Given the description of an element on the screen output the (x, y) to click on. 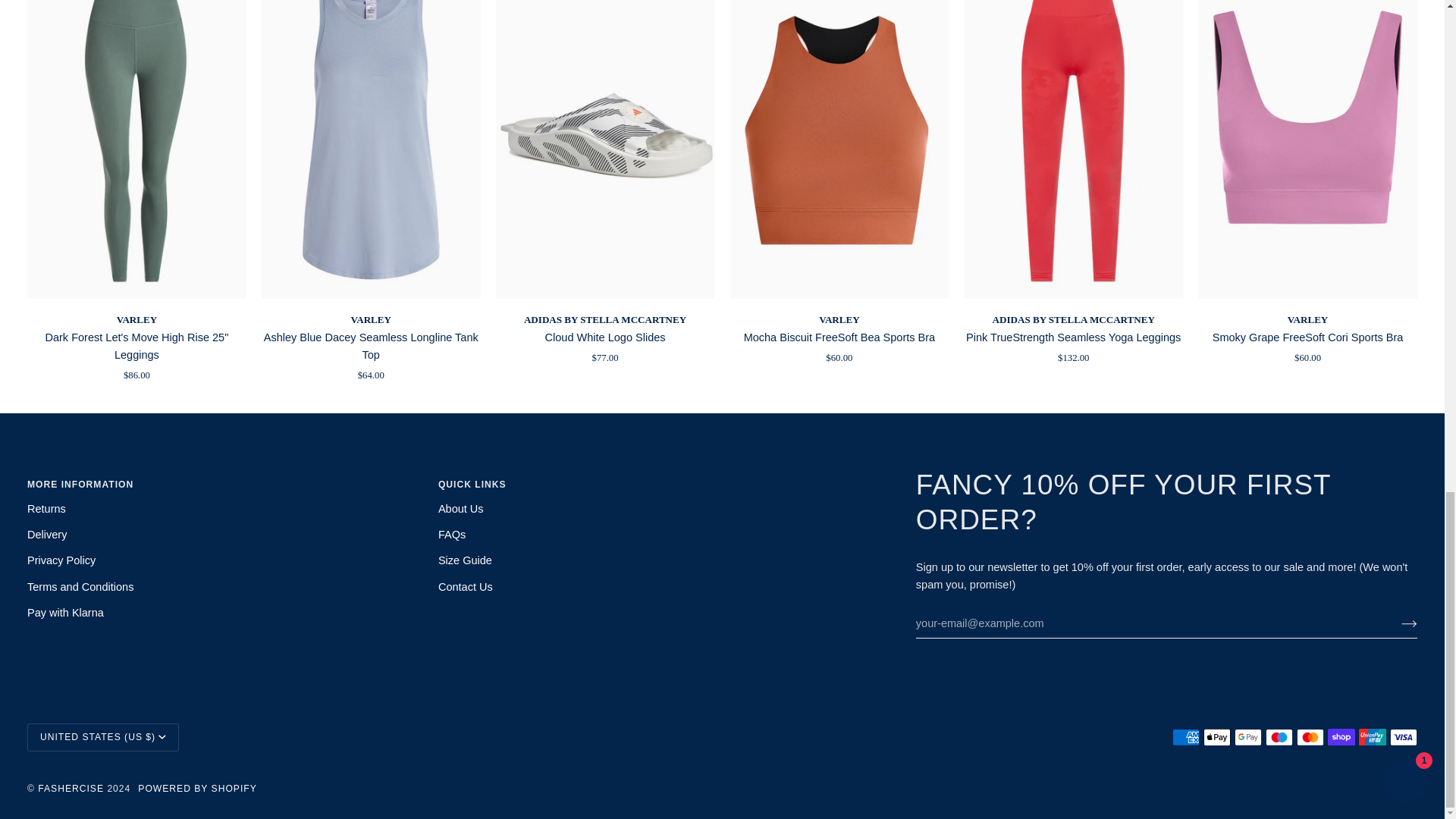
GOOGLE PAY (1248, 737)
APPLE PAY (1217, 737)
AMERICAN EXPRESS (1185, 737)
MAESTRO (1278, 737)
MASTERCARD (1310, 737)
VISA (1403, 737)
SHOP PAY (1341, 737)
UNION PAY (1372, 737)
